Given the description of an element on the screen output the (x, y) to click on. 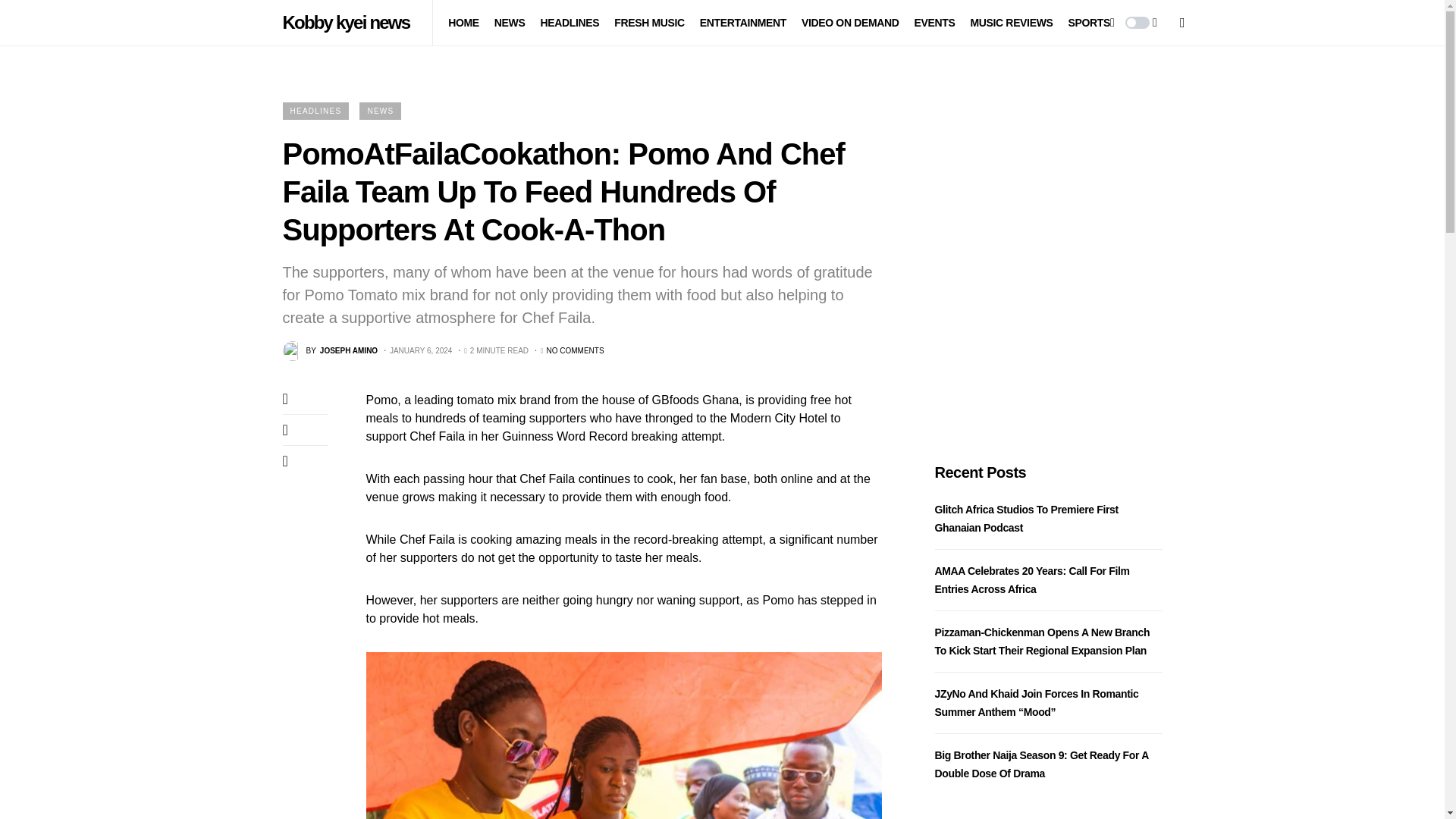
EVENTS (934, 22)
HEADLINES (569, 22)
VIDEO ON DEMAND (850, 22)
FRESH MUSIC (649, 22)
View all posts by Joseph Amino (329, 351)
SPORTS (1088, 22)
MUSIC REVIEWS (1010, 22)
ENTERTAINMENT (743, 22)
Kobby kyei news (349, 22)
